Given the description of an element on the screen output the (x, y) to click on. 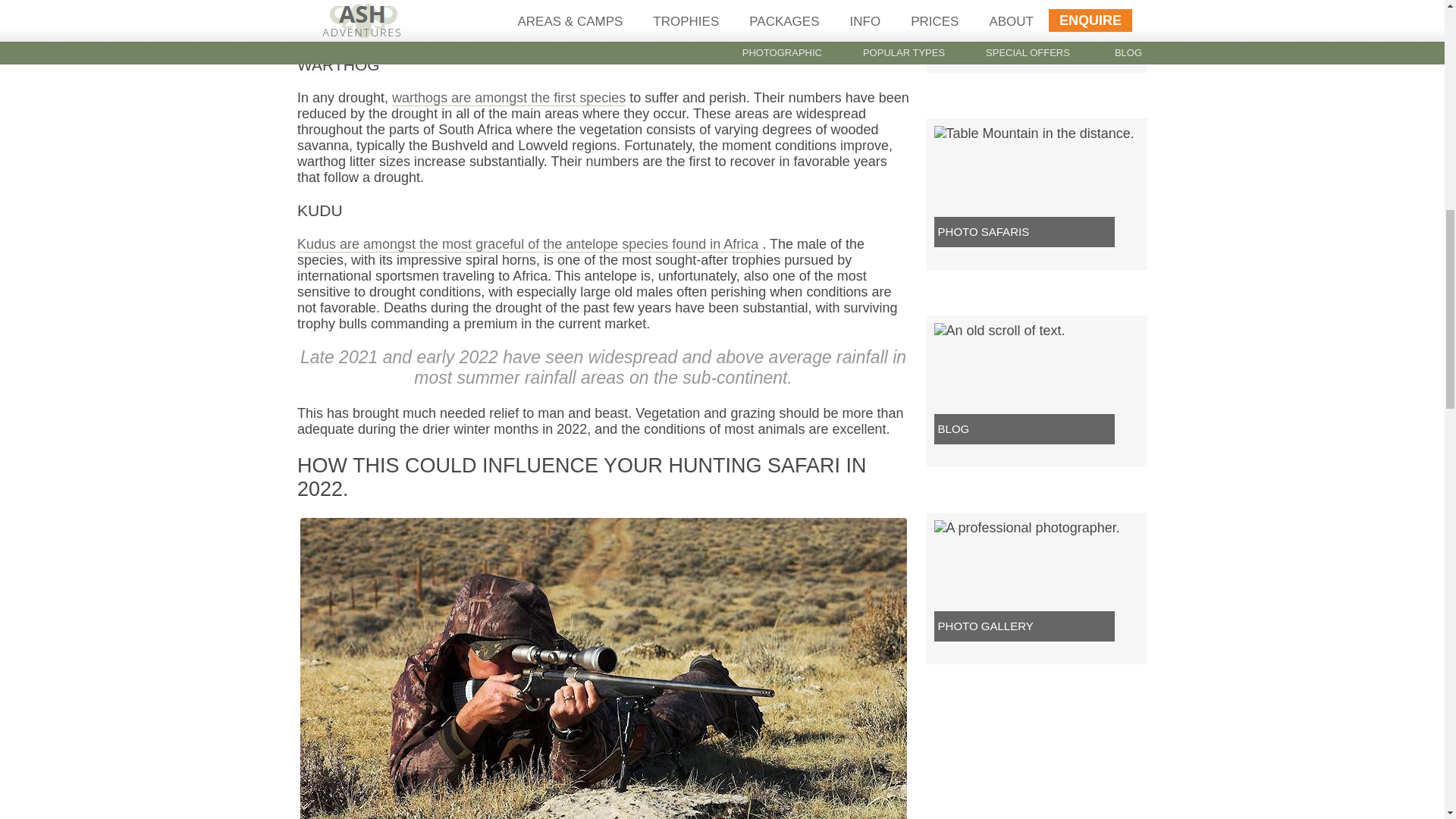
BLOG (953, 428)
PHOTO GALLERY (985, 625)
LUXURY HUNTS (981, 33)
warthogs are amongst the first species (508, 98)
PHOTO SAFARIS (983, 231)
